Given the description of an element on the screen output the (x, y) to click on. 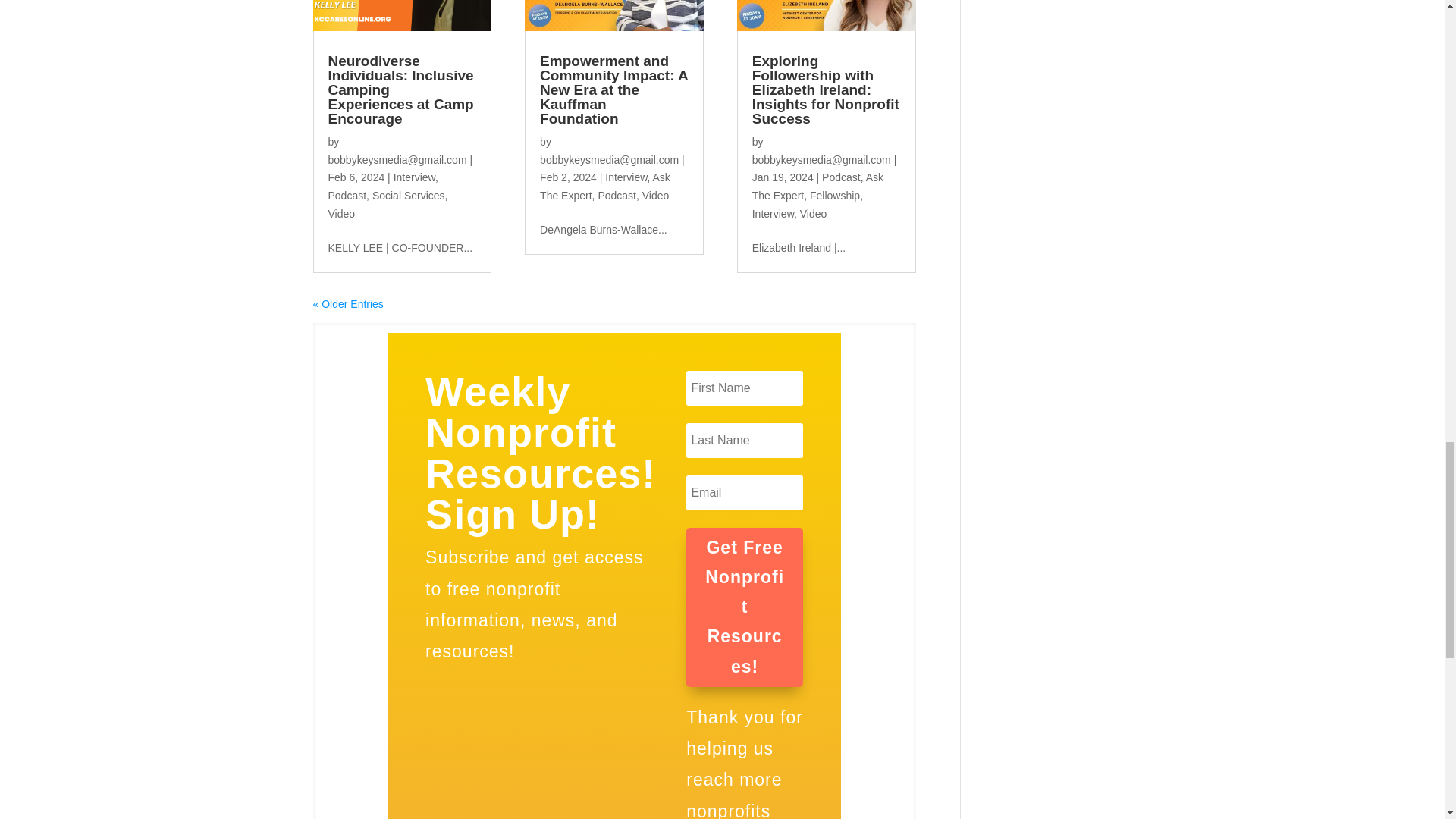
Podcast (616, 195)
Ask The Expert (604, 186)
Video (655, 195)
Interview (625, 177)
Podcast (346, 195)
Social Services (408, 195)
Interview (414, 177)
Video (341, 214)
